Given the description of an element on the screen output the (x, y) to click on. 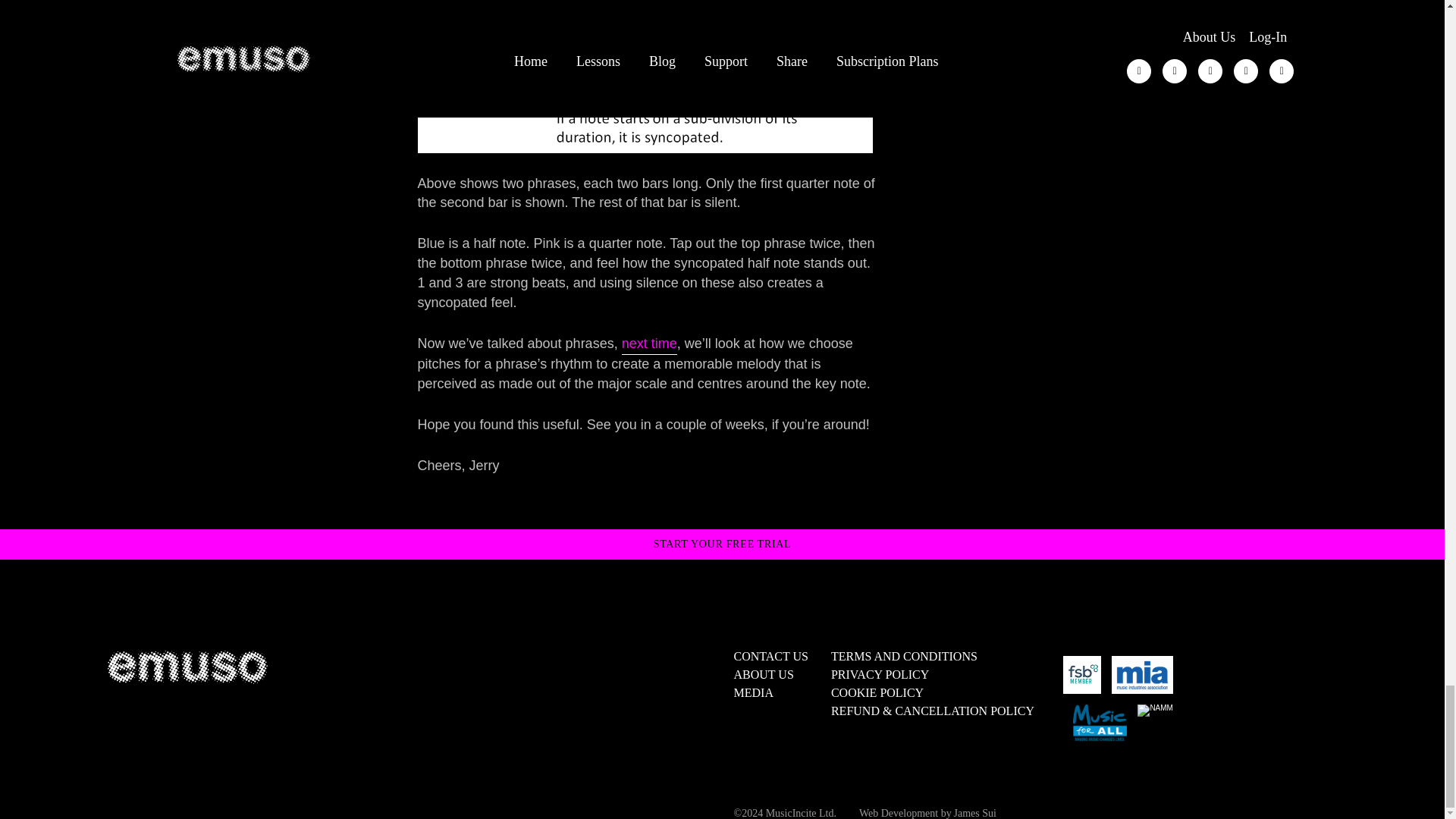
CONTACT US (770, 656)
TERMS AND CONDITIONS (903, 656)
PRIVACY POLICY (879, 674)
MEDIA (753, 692)
next time (649, 344)
ABOUT US (763, 674)
COOKIE POLICY (877, 692)
START YOUR FREE TRIAL (722, 543)
